Given the description of an element on the screen output the (x, y) to click on. 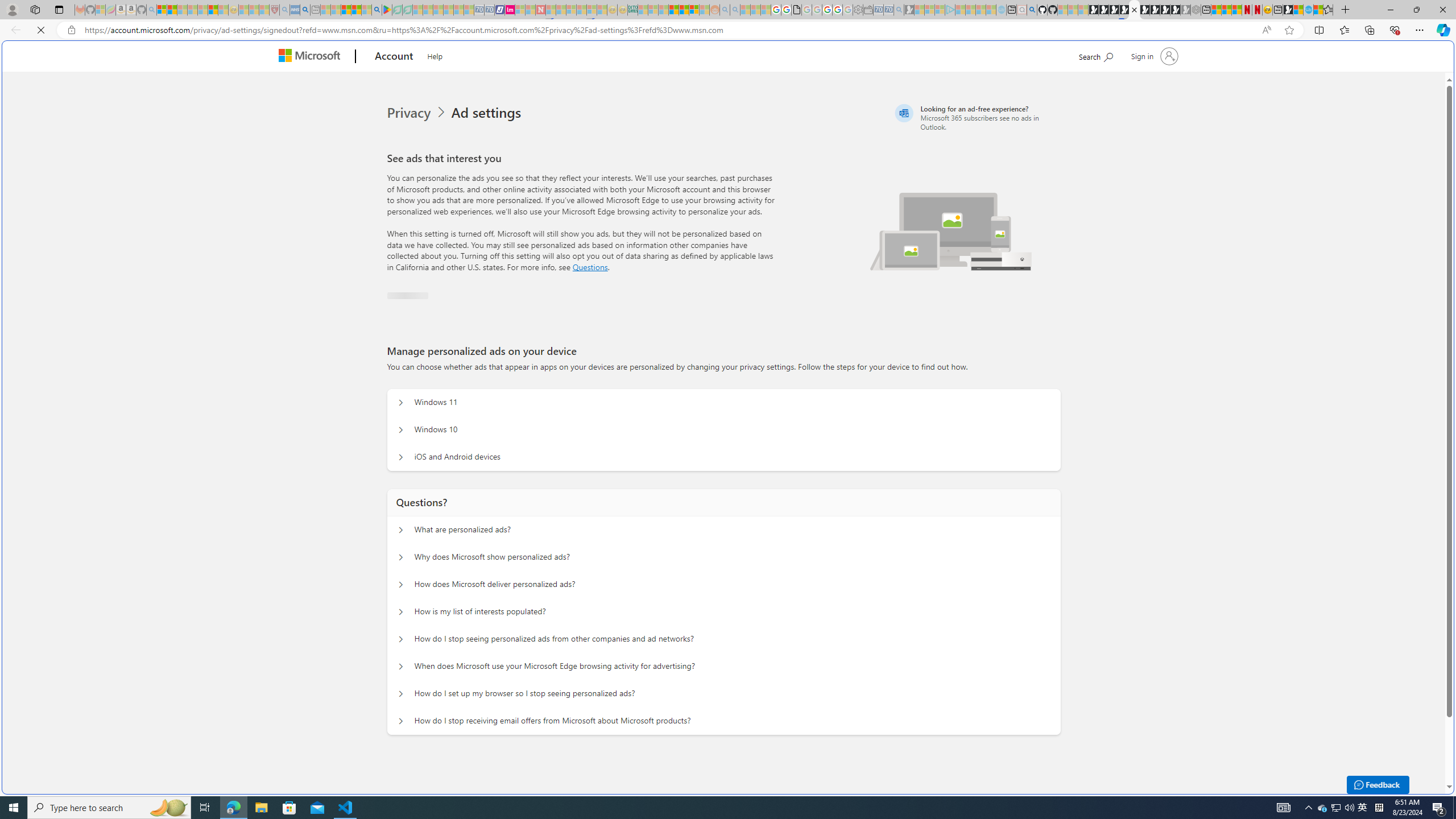
Ad settings (488, 112)
google_privacy_policy_zh-CN.pdf (796, 9)
Wallet - Sleeping (867, 9)
